Given the description of an element on the screen output the (x, y) to click on. 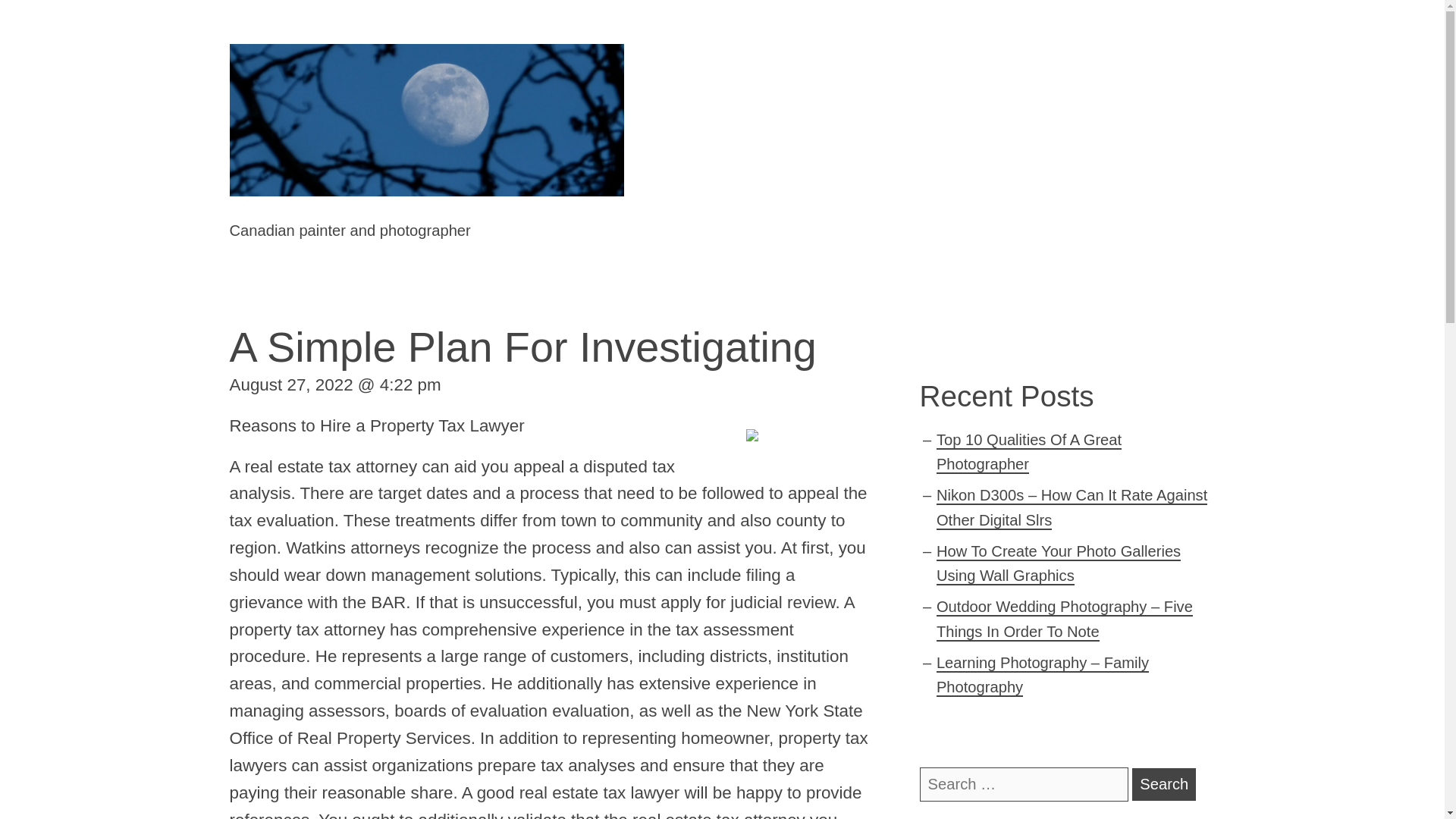
Search (1163, 784)
Search (1163, 784)
How To Create Your Photo Galleries Using Wall Graphics (1058, 563)
Top 10 Qualities Of A Great Photographer (1028, 452)
Search (1163, 784)
